Given the description of an element on the screen output the (x, y) to click on. 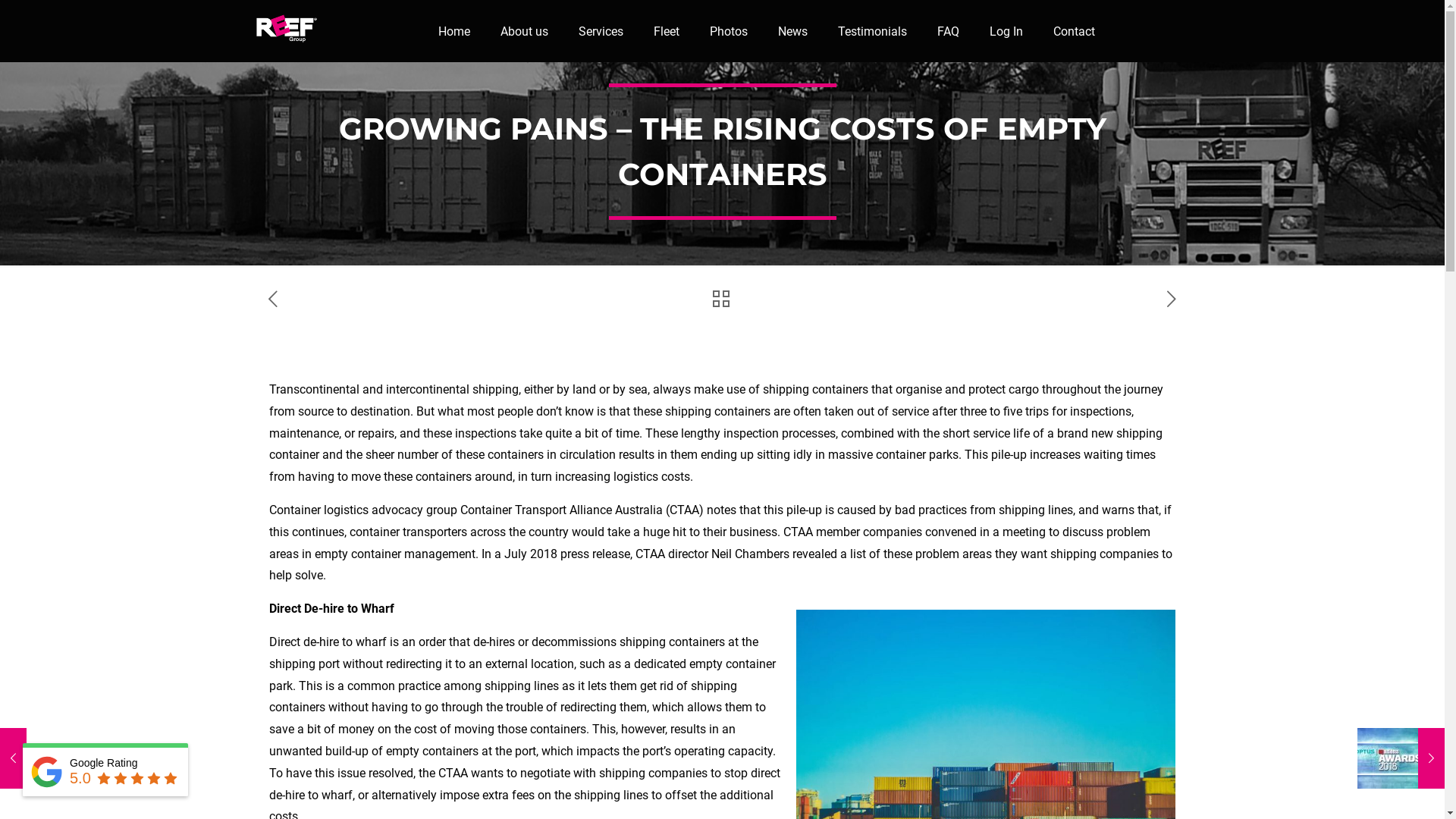
News Element type: text (792, 31)
Log In Element type: text (1005, 31)
About us Element type: text (524, 31)
FAQ Element type: text (948, 31)
Testimonials Element type: text (871, 31)
Fleet Element type: text (666, 31)
Contact Element type: text (1073, 31)
Services Element type: text (599, 31)
Home Element type: text (454, 31)
Photos Element type: text (728, 31)
